Given the description of an element on the screen output the (x, y) to click on. 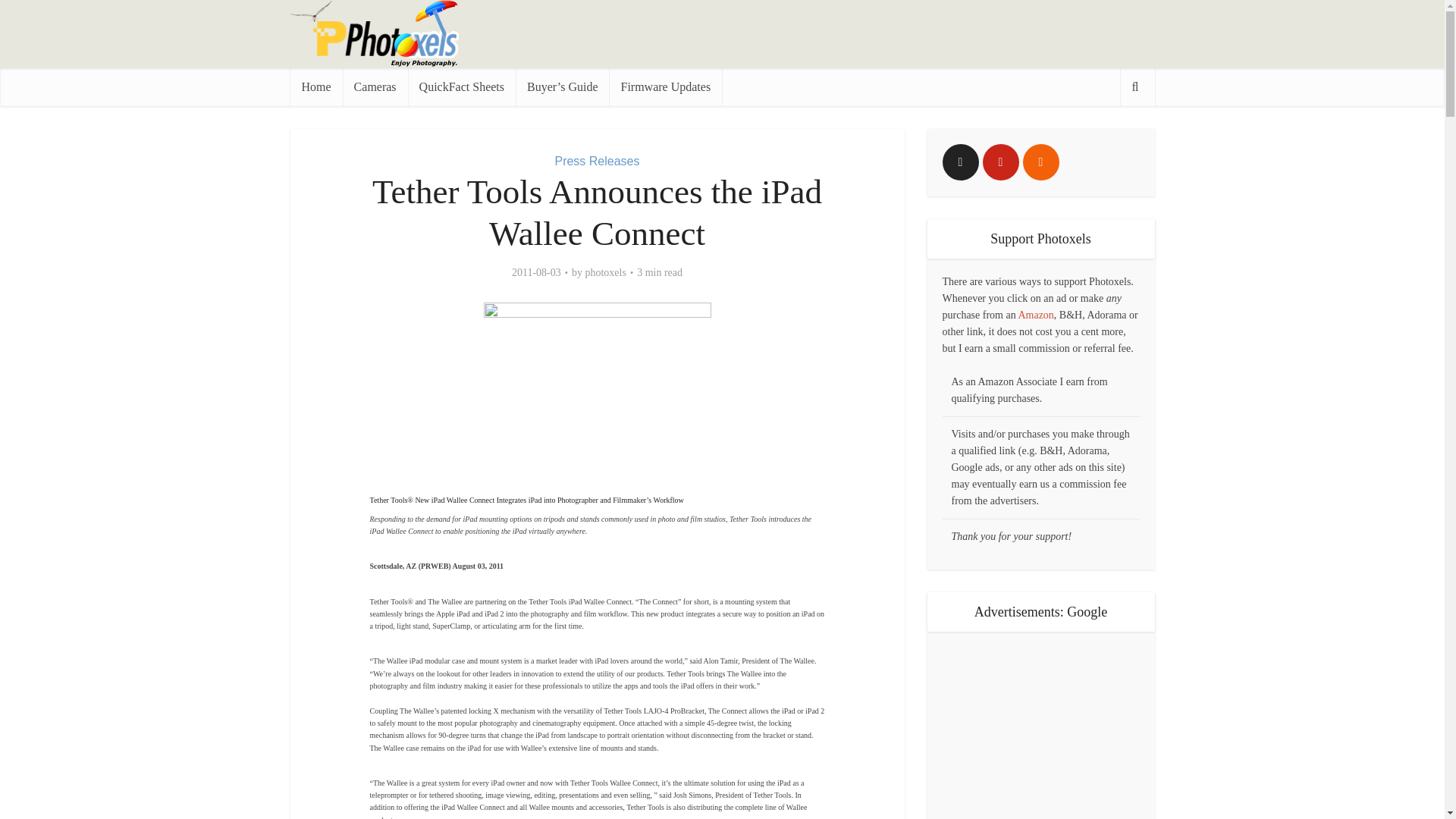
photoxels (605, 273)
Cameras (374, 86)
twitter (960, 162)
Home (315, 86)
RSS (1040, 162)
rss (1040, 162)
QuickFact Sheets (461, 86)
Press Releases (596, 160)
pinterest (1000, 162)
Pinterest (1000, 162)
Amazon (1034, 315)
Firmware Updates (665, 86)
Advertisement (1040, 725)
Advertisement (878, 33)
